Given the description of an element on the screen output the (x, y) to click on. 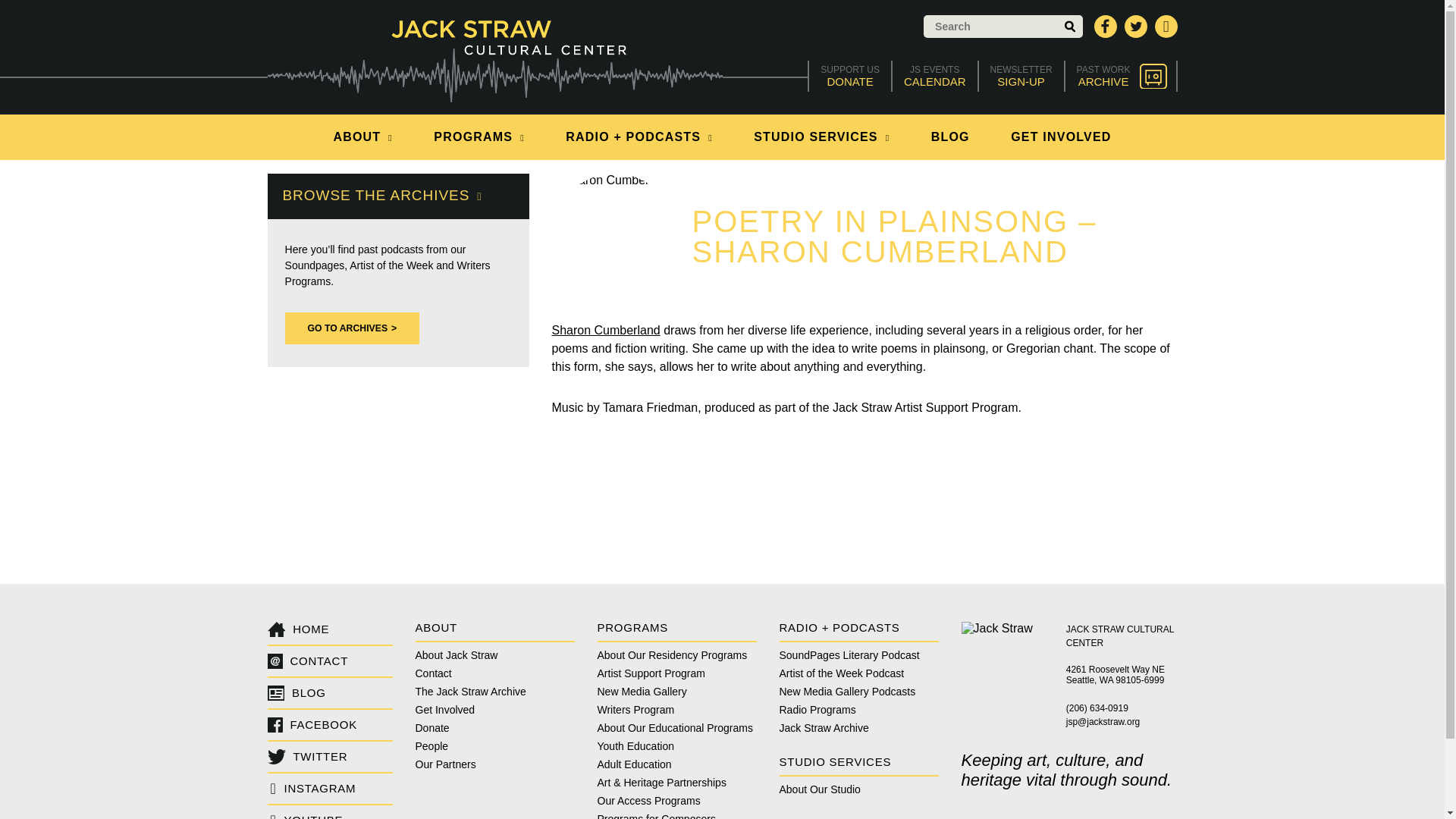
BLOG (1120, 75)
ABOUT (934, 75)
STUDIO SERVICES (950, 136)
PROGRAMS (362, 136)
